Given the description of an element on the screen output the (x, y) to click on. 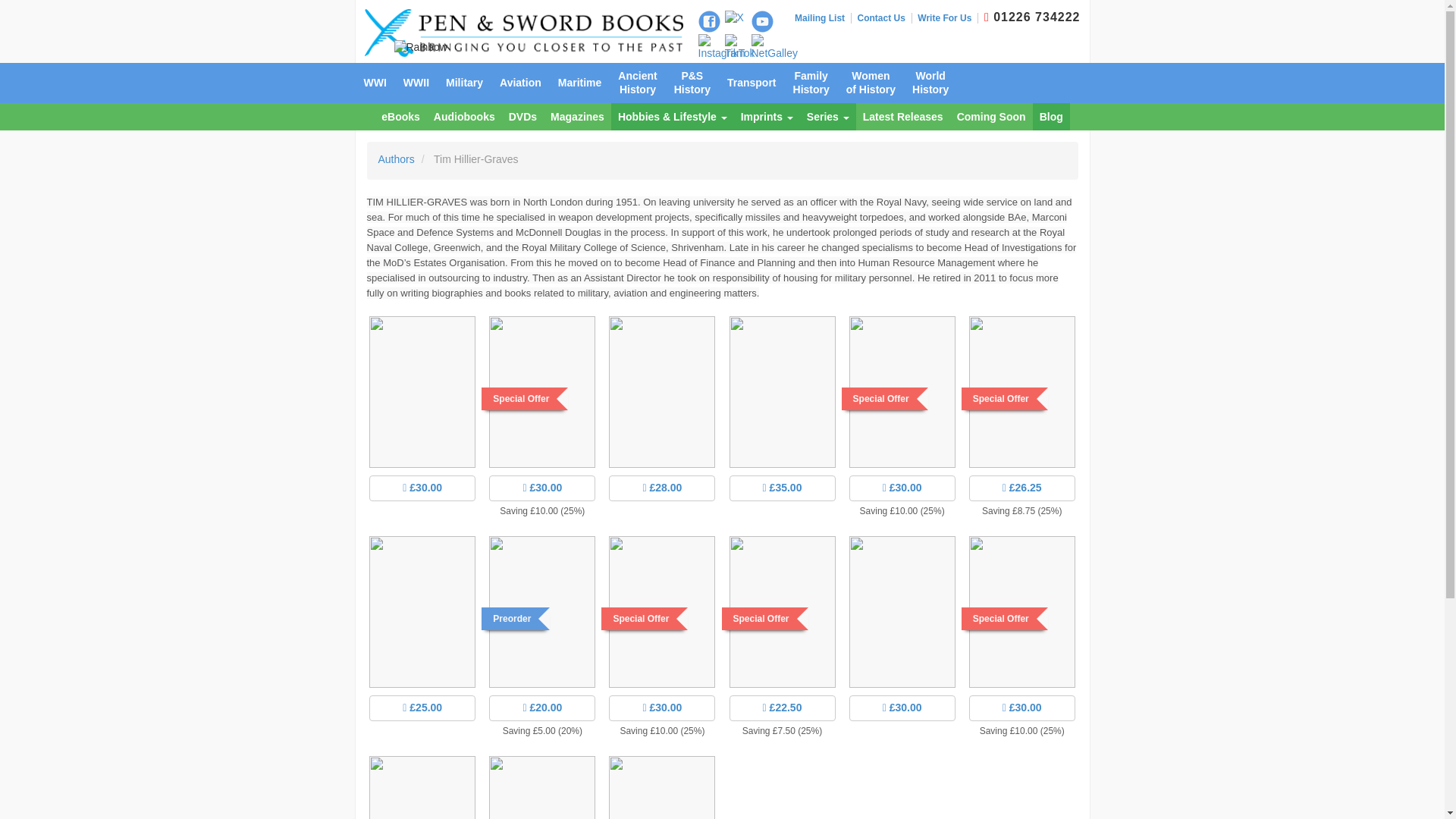
Contact Us (884, 18)
Mailing List (822, 18)
Facebook (708, 21)
Write For Us (947, 18)
TikTok (740, 47)
NetGalley (773, 47)
Instagram (720, 47)
X (734, 17)
YouTube (762, 21)
